Given the description of an element on the screen output the (x, y) to click on. 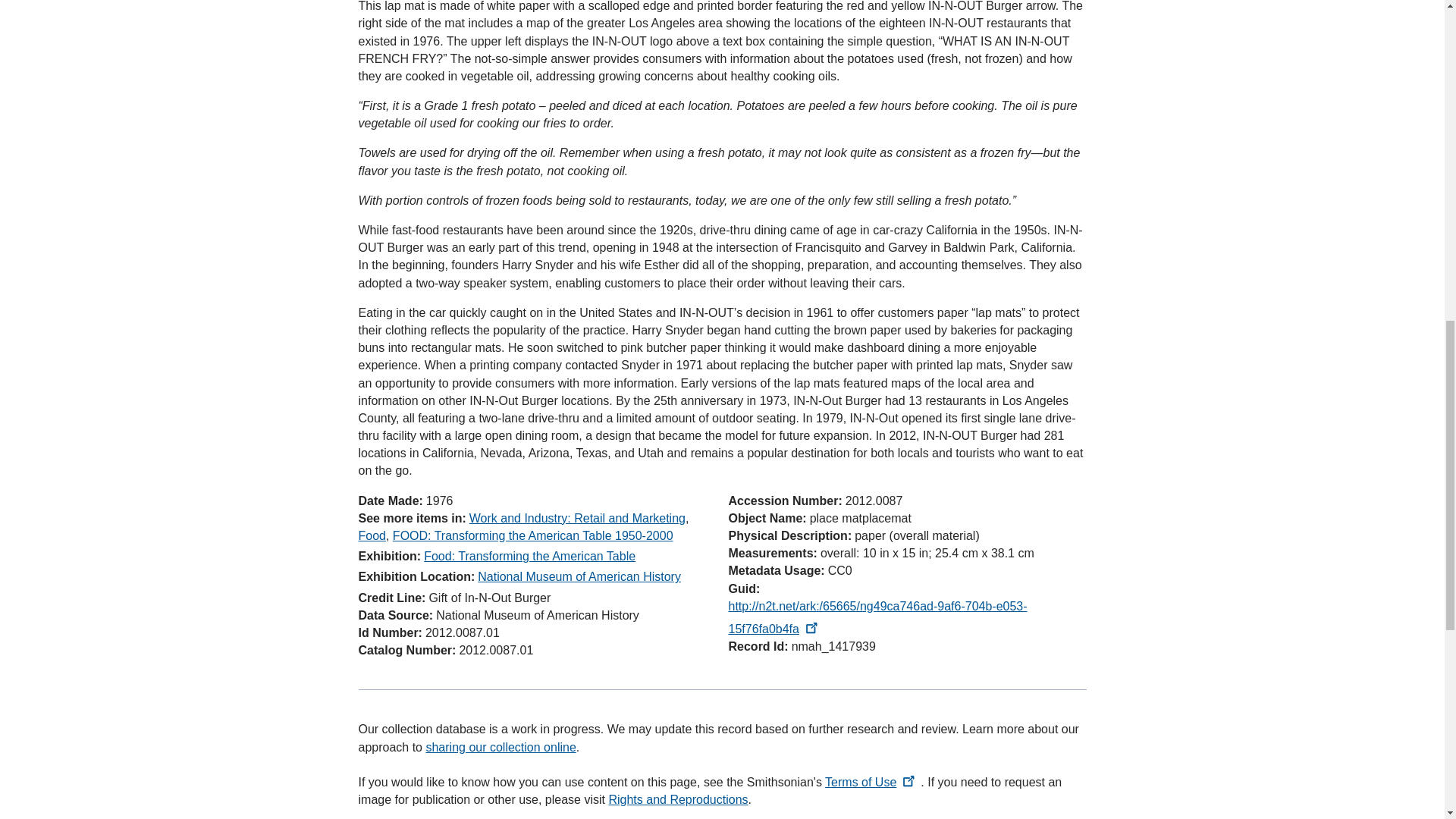
Food: Transforming the American Table (528, 555)
Food (371, 535)
National Museum of American History (579, 576)
Work and Industry: Retail and Marketing (576, 517)
FOOD: Transforming the American Table 1950-2000 (532, 535)
